Given the description of an element on the screen output the (x, y) to click on. 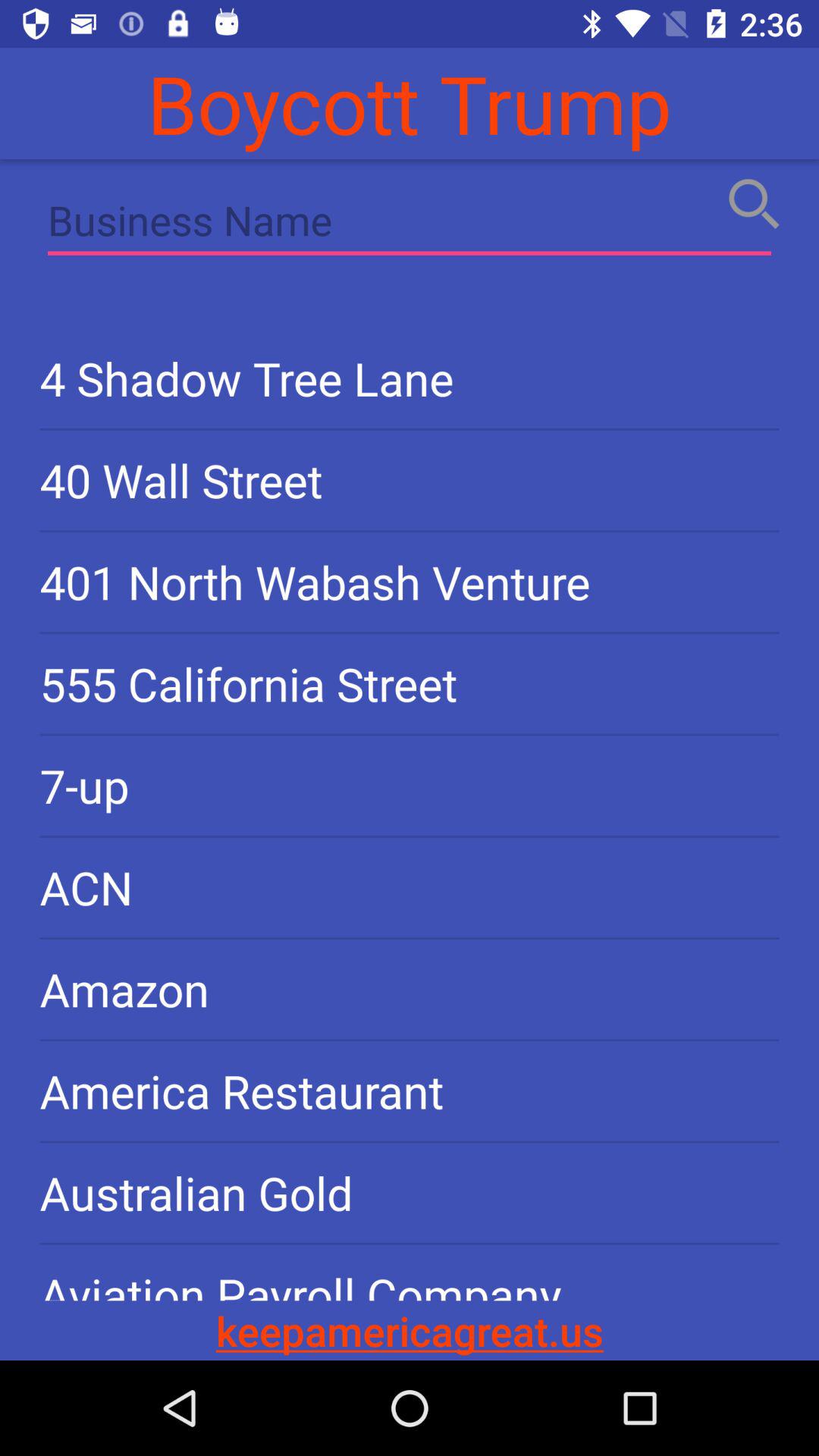
flip to 555 california street icon (409, 683)
